Given the description of an element on the screen output the (x, y) to click on. 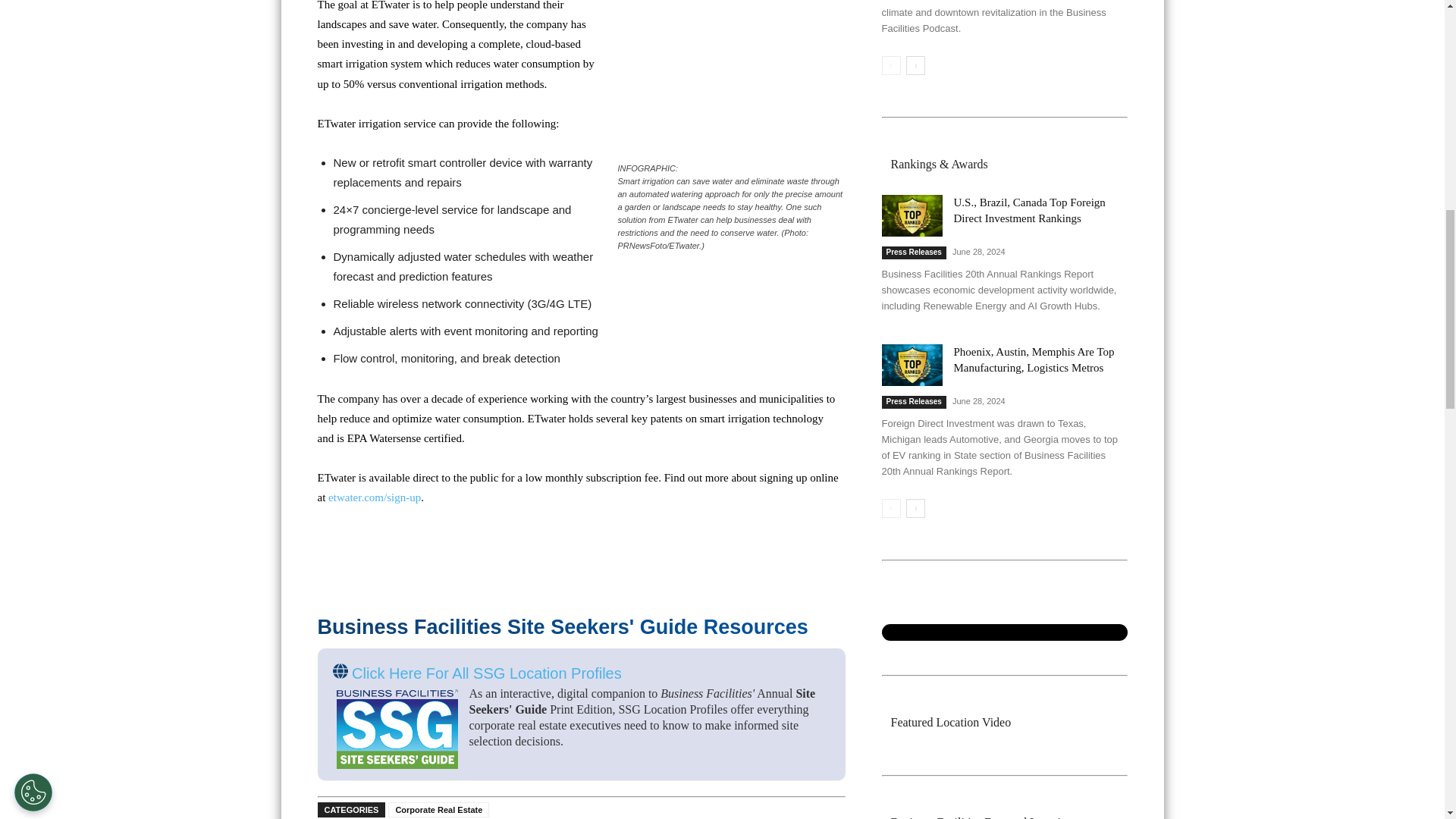
3rd party ad content (721, 38)
